Given the description of an element on the screen output the (x, y) to click on. 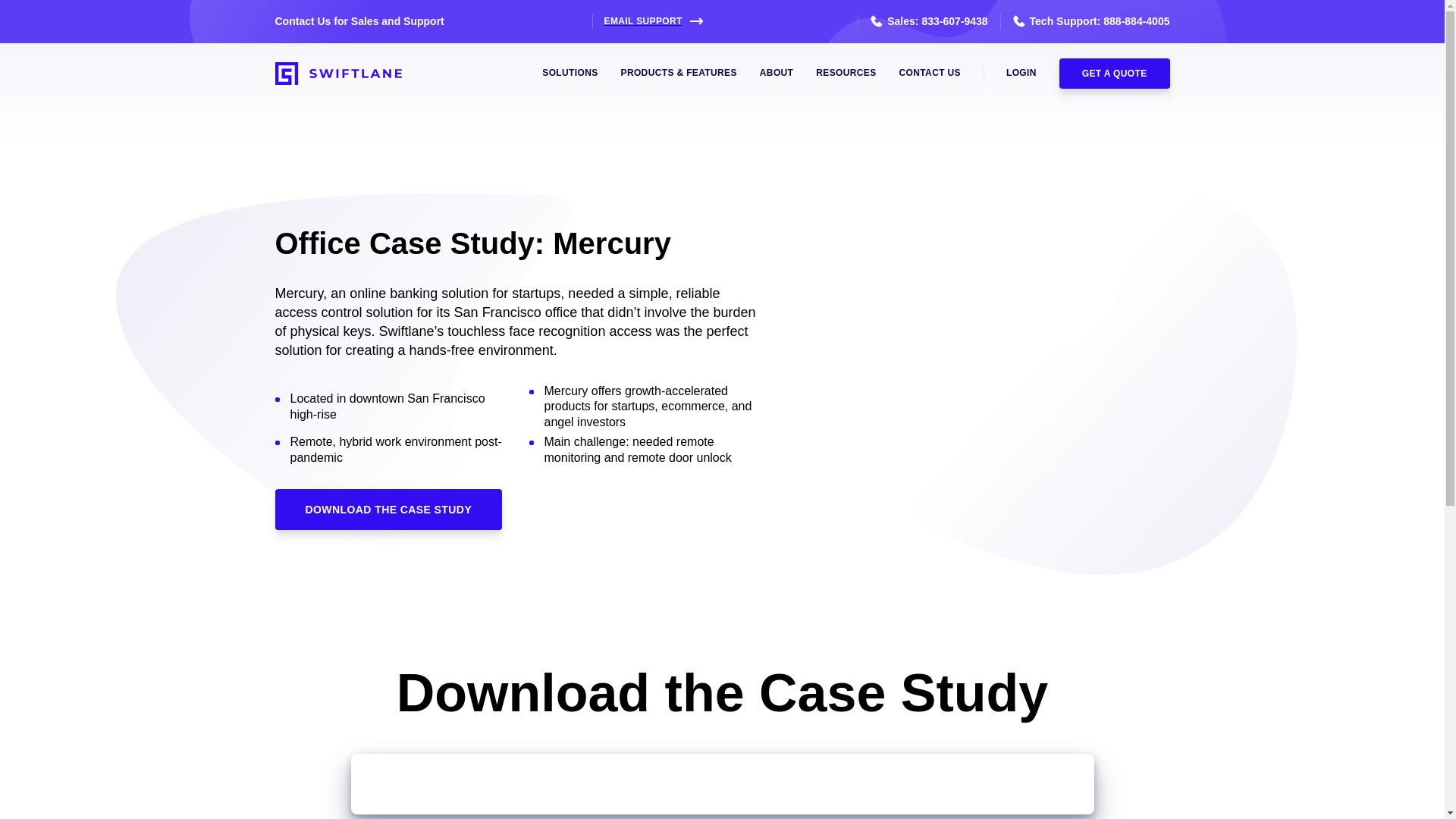
ABOUT (776, 73)
SOLUTIONS (568, 73)
RESOURCES (845, 73)
EMAIL SUPPORT (647, 20)
Tech Support: 888-884-4005 (1085, 21)
CONTACT US (929, 73)
Sales: 833-607-9438 (922, 21)
